Given the description of an element on the screen output the (x, y) to click on. 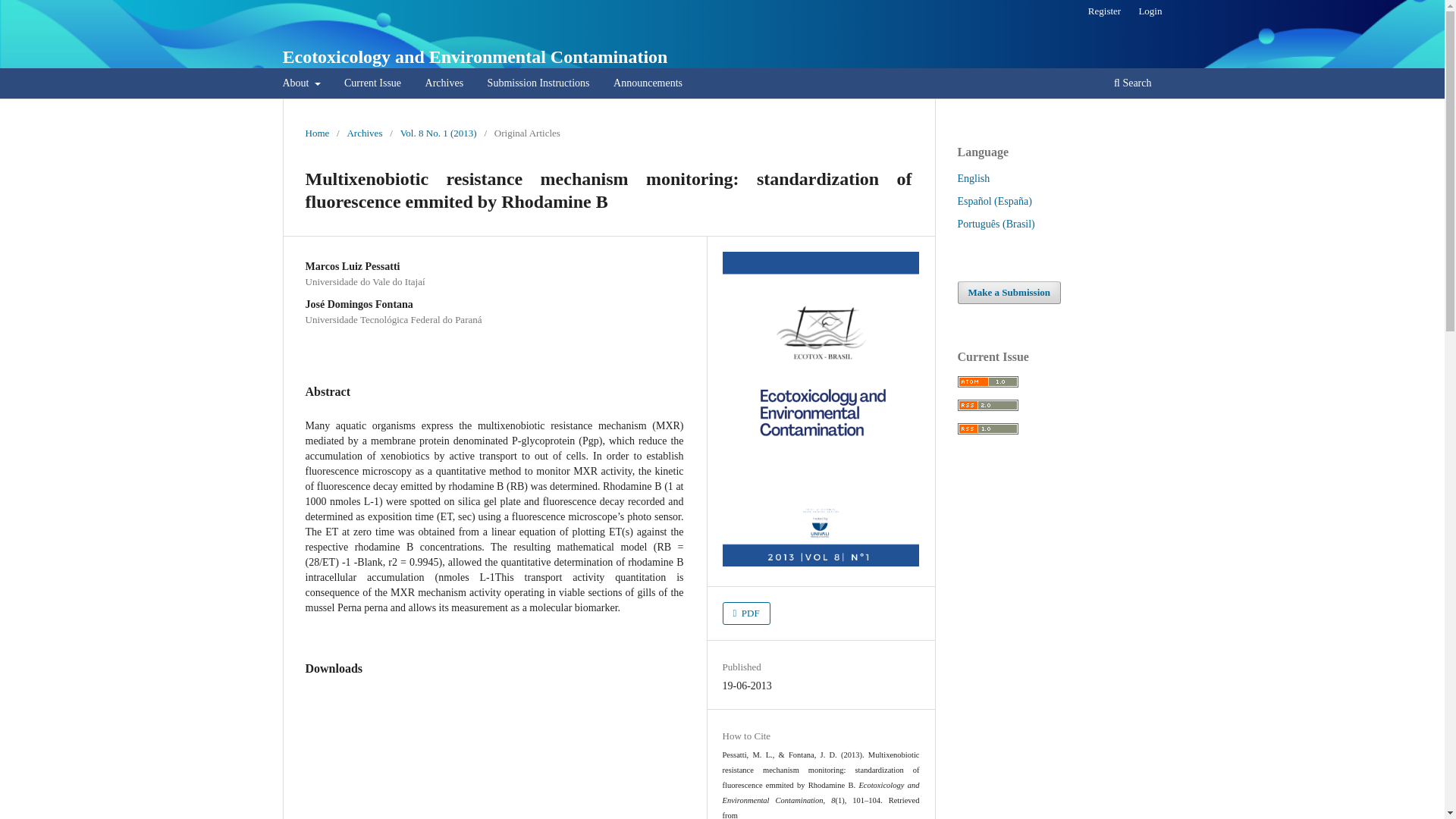
Home (316, 133)
Make a Submission (1008, 292)
Search (1132, 85)
Ecotoxicology and Environmental Contamination (474, 56)
Announcements (647, 85)
English (973, 178)
Login (1150, 11)
Submission Instructions (538, 85)
Current Issue (372, 85)
Register (1104, 11)
Archives (444, 85)
PDF (746, 612)
About (302, 85)
Archives (363, 133)
